Given the description of an element on the screen output the (x, y) to click on. 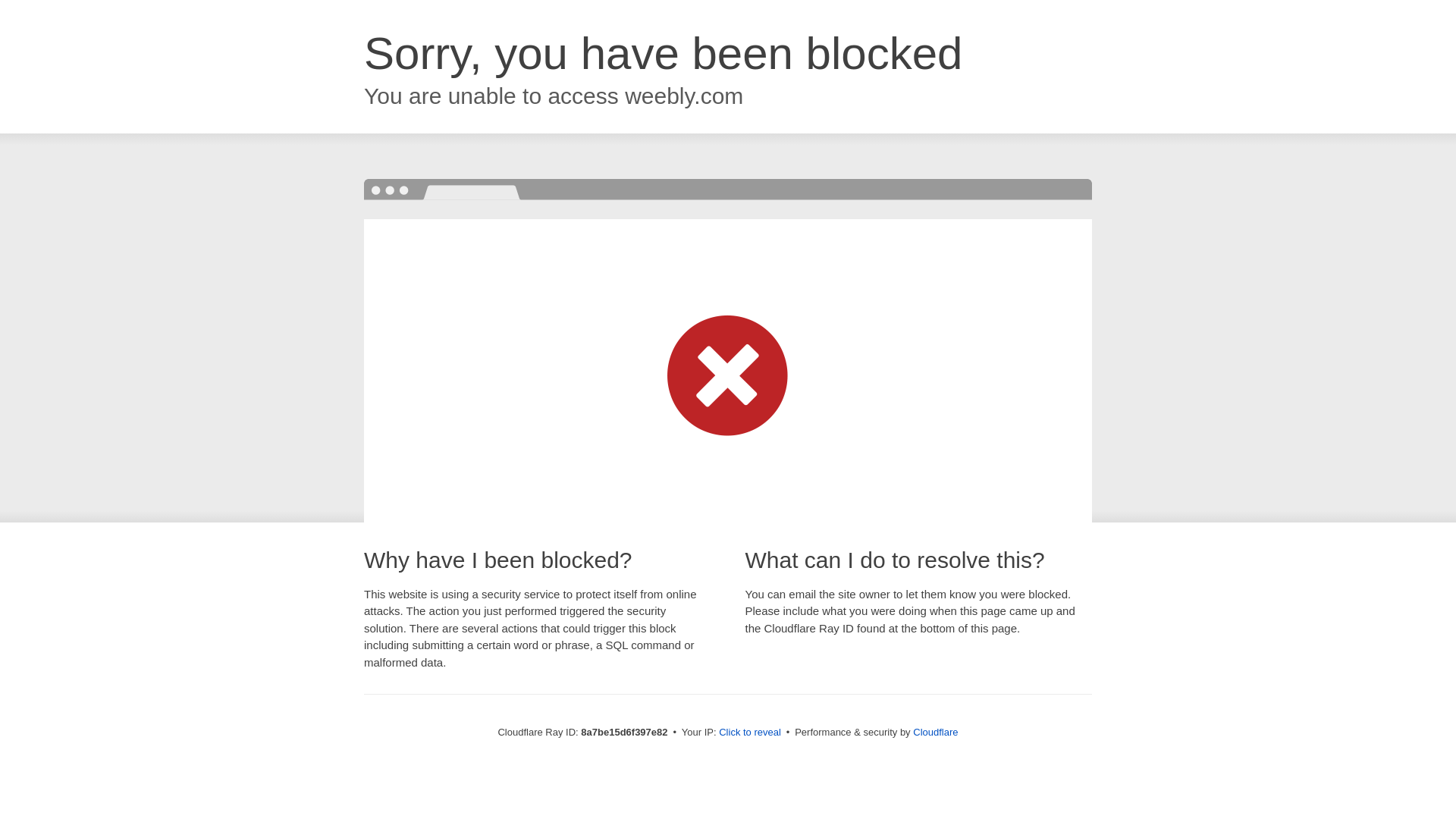
Click to reveal (749, 732)
Cloudflare (935, 731)
